Given the description of an element on the screen output the (x, y) to click on. 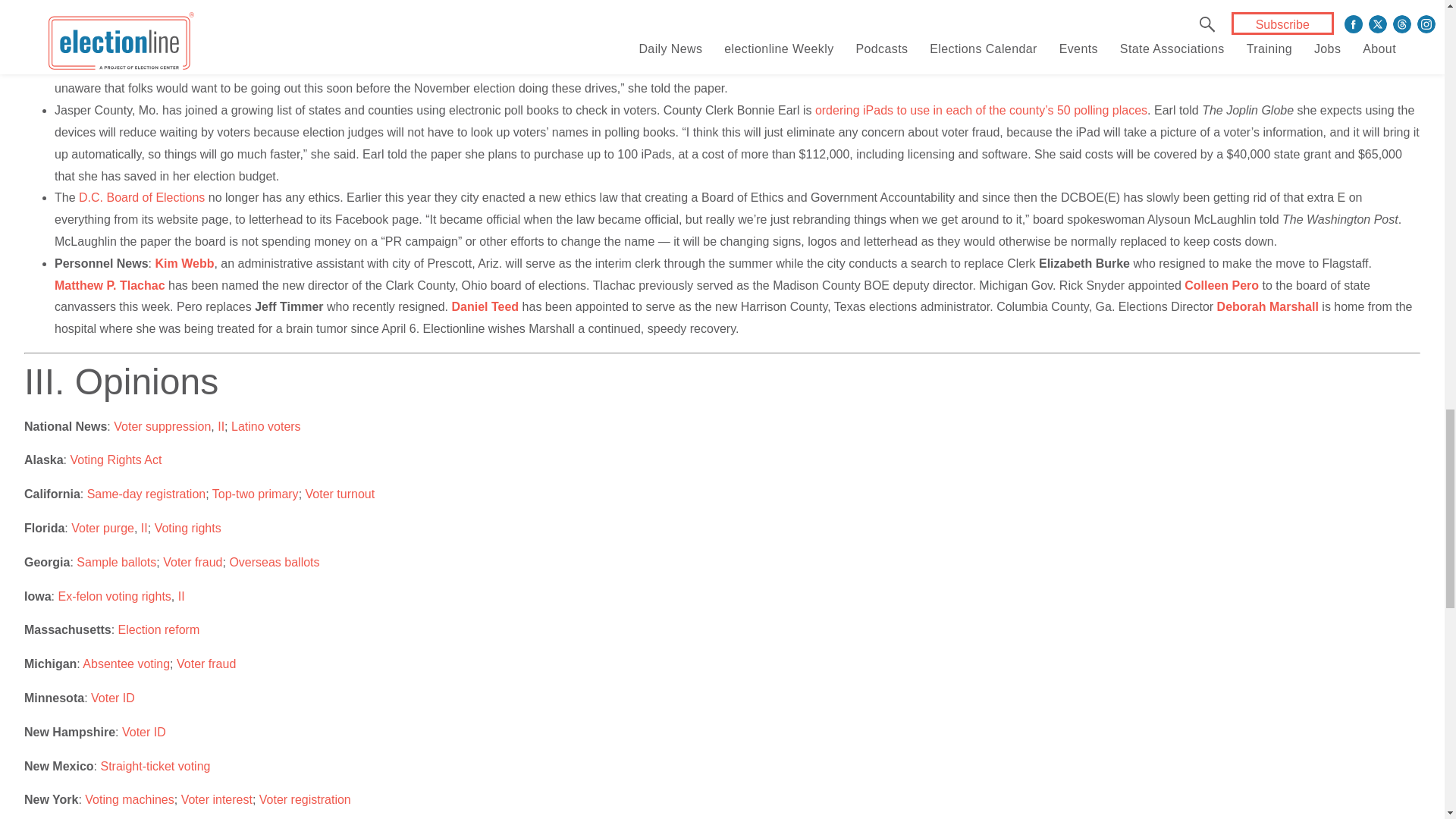
D.C. Board of Elections (141, 196)
Daniel Teed (485, 306)
Deborah Marshall (1268, 306)
Matthew P. Tlachac (110, 285)
running low on voter registration cards (734, 33)
Kim Webb (184, 263)
Colleen Pero (1222, 285)
under fire (397, 22)
not stepping down (492, 22)
